Given the description of an element on the screen output the (x, y) to click on. 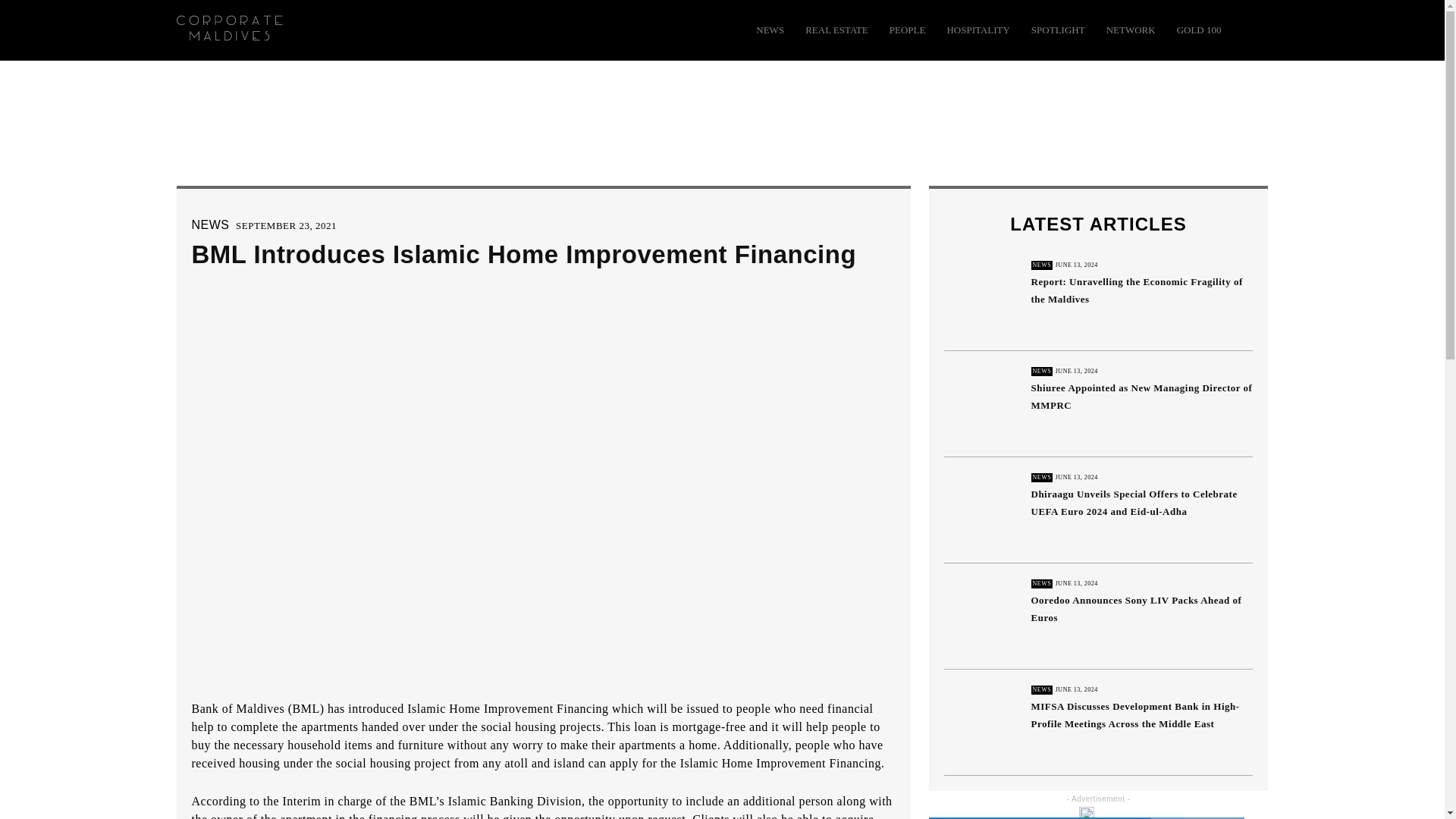
REAL ESTATE (836, 30)
PEOPLE (907, 30)
NEWS (769, 30)
NETWORK (1131, 30)
GOLD 100 (1198, 30)
SPOTLIGHT (1057, 30)
NEWS (209, 224)
HOSPITALITY (977, 30)
